Given the description of an element on the screen output the (x, y) to click on. 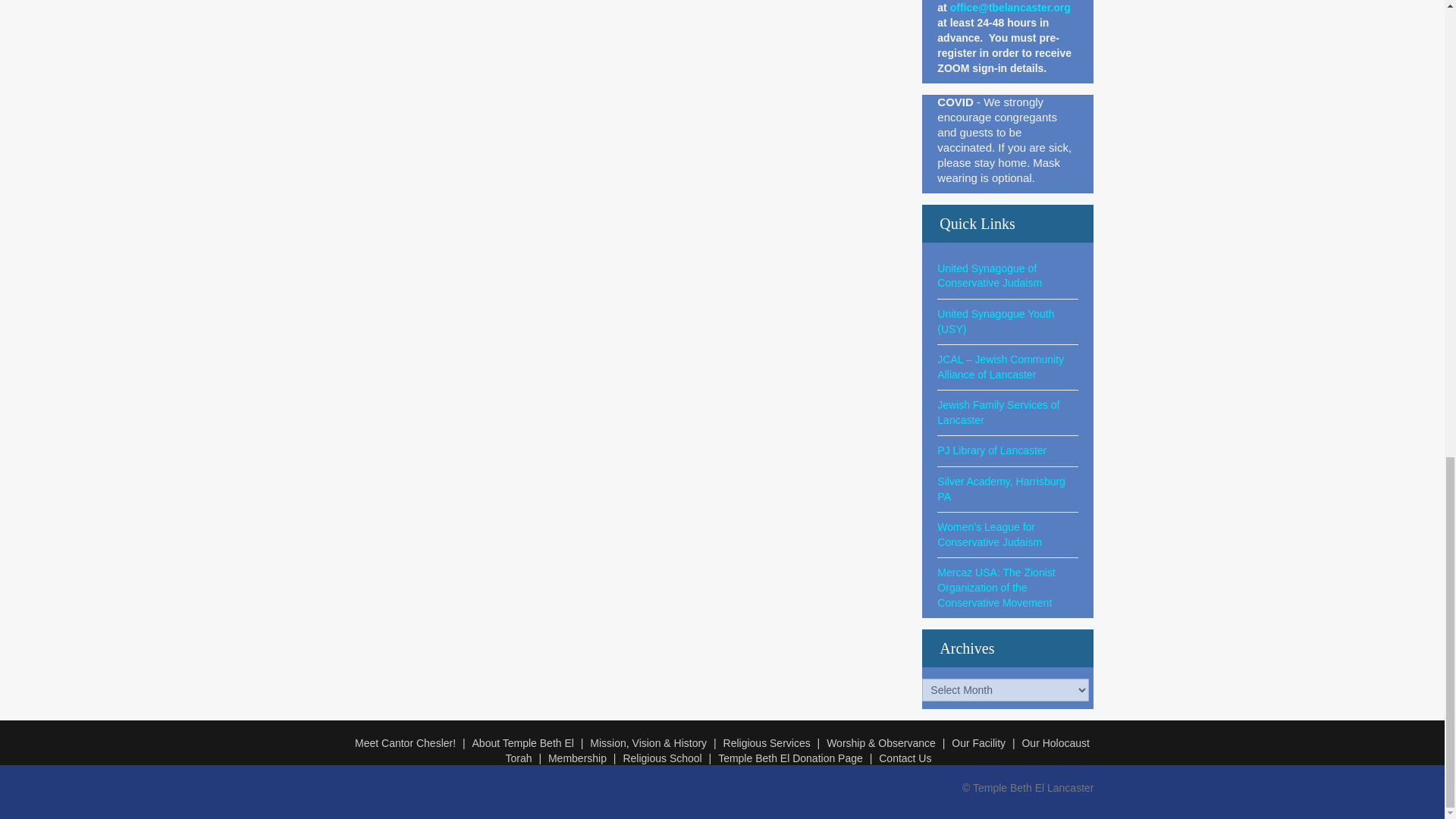
Meet Cantor Chesler! (411, 743)
Silver Academy, Harrisburg PA (1001, 488)
Jewish Family Services of Lancaster (998, 411)
About Temple Beth El (528, 743)
PJ Library of Lancaster (991, 450)
United Synagogue of Conservative Judaism (989, 275)
